Given the description of an element on the screen output the (x, y) to click on. 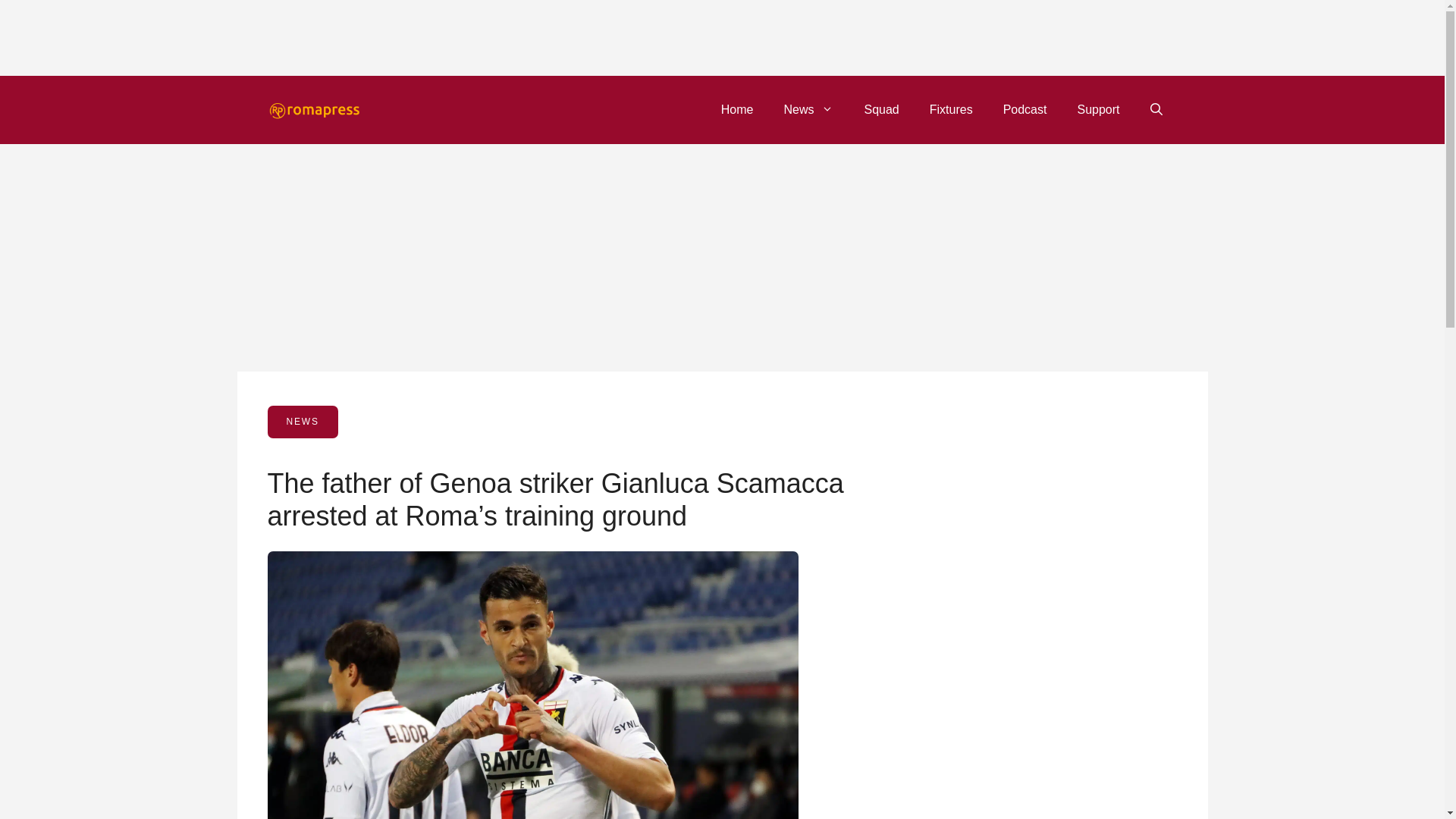
Squad (881, 109)
Podcast (1025, 109)
News (808, 109)
Home (737, 109)
Support (1097, 109)
Fixtures (951, 109)
